Given the description of an element on the screen output the (x, y) to click on. 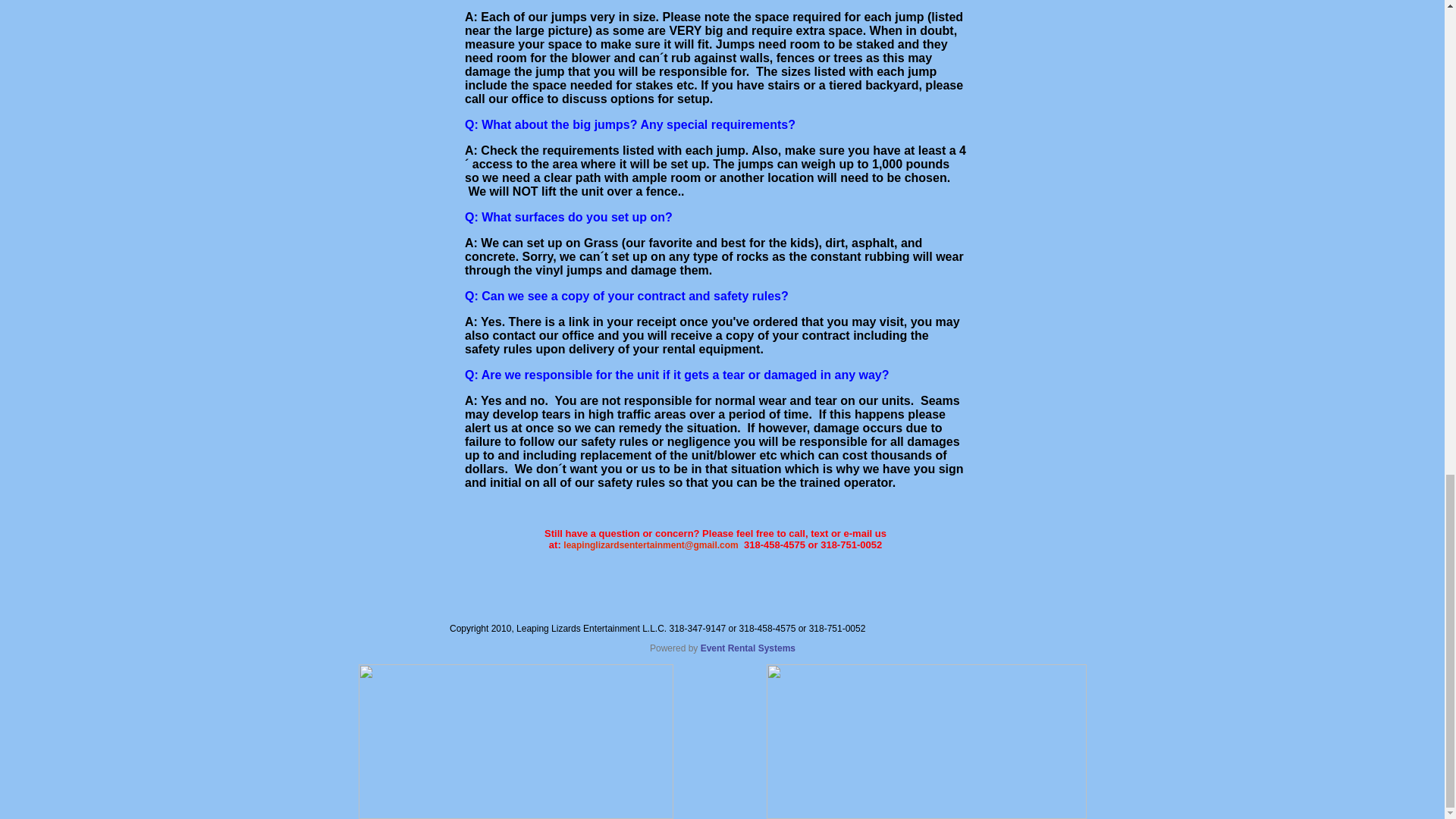
Event Rental Systems (747, 647)
